Given the description of an element on the screen output the (x, y) to click on. 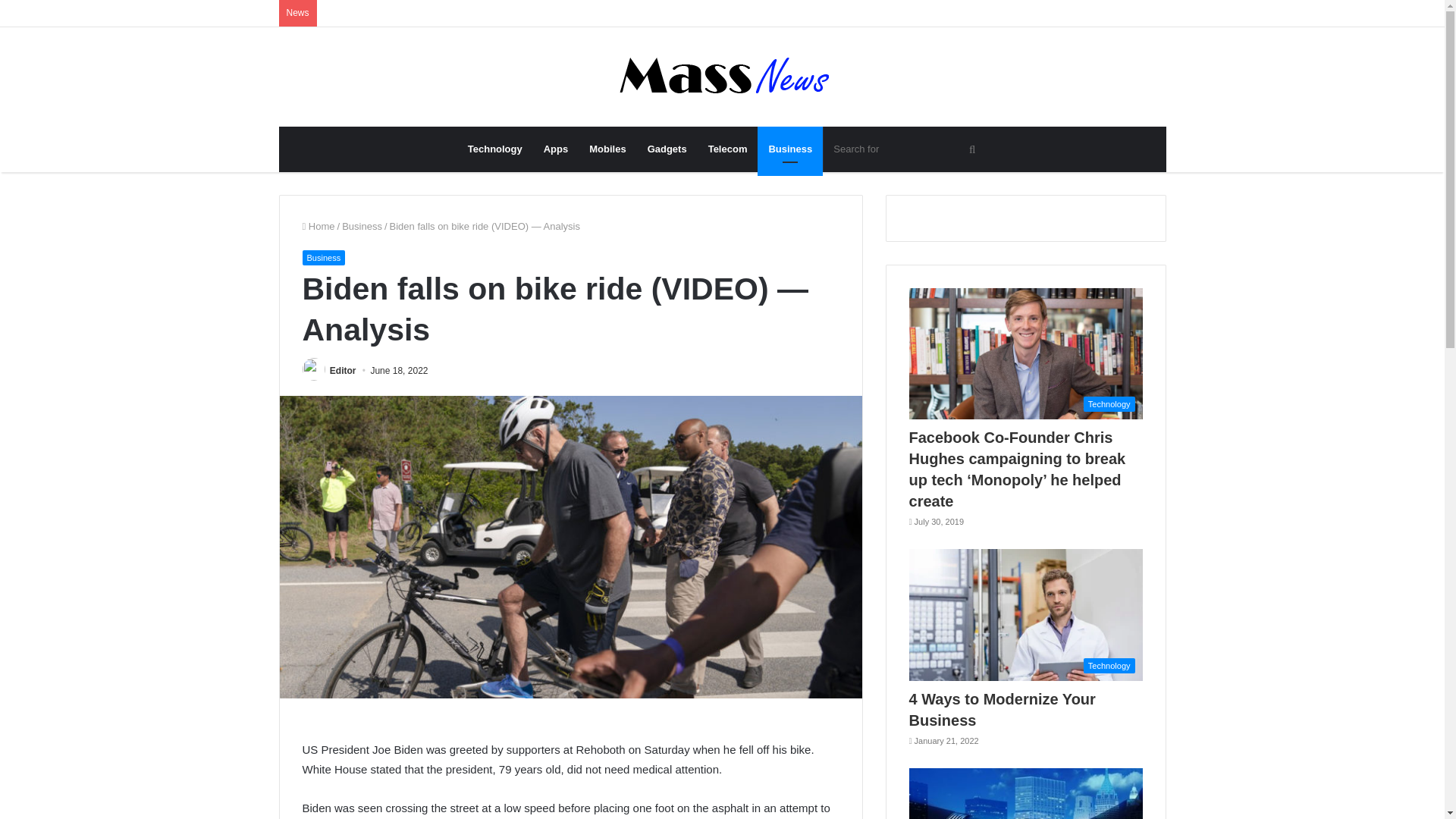
Mass News (721, 76)
Technology (494, 148)
Editor (343, 370)
Mobiles (607, 148)
Home (317, 225)
Business (323, 257)
Business (789, 148)
Business (361, 225)
Search for (905, 148)
Telecom (727, 148)
